Given the description of an element on the screen output the (x, y) to click on. 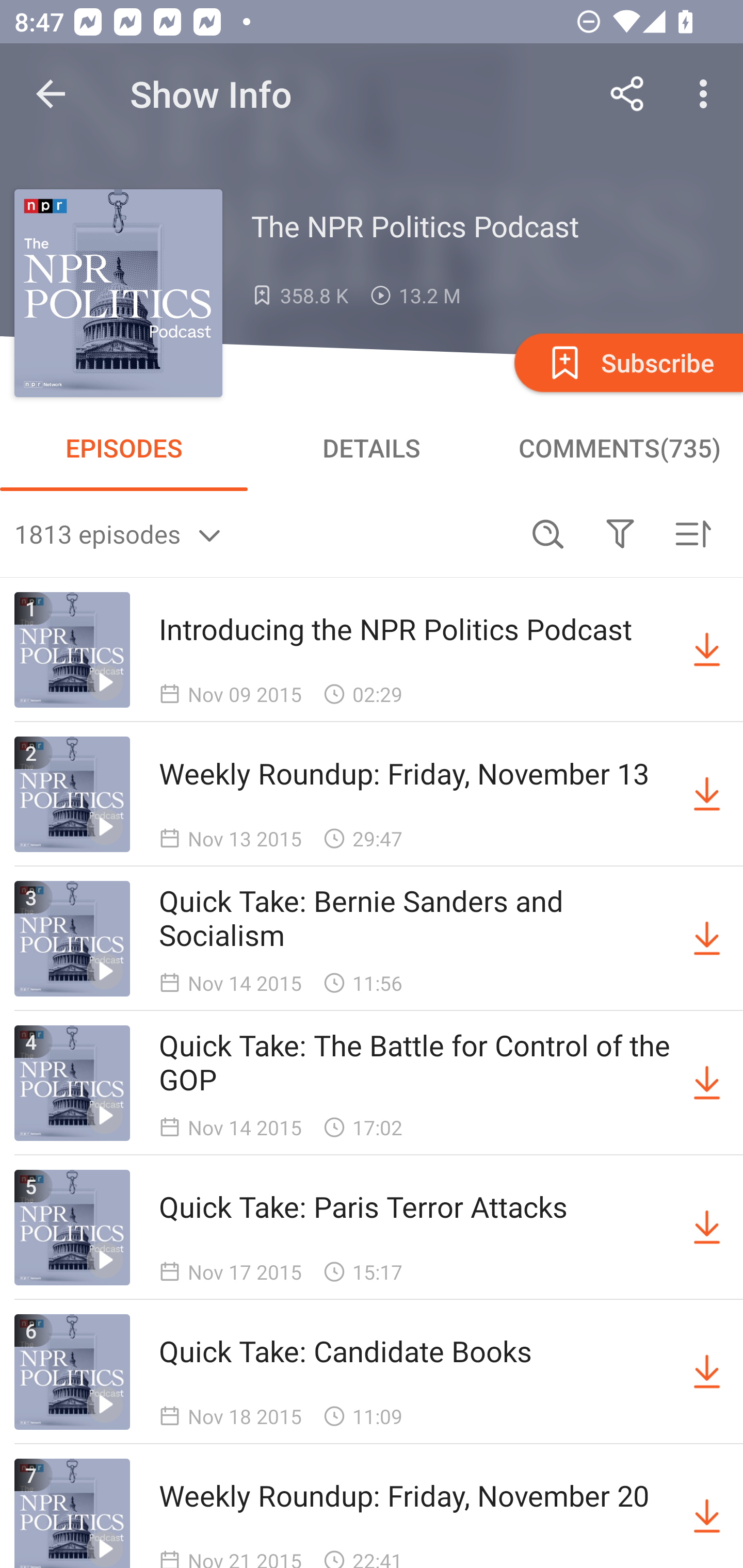
Navigate up (50, 93)
Share (626, 93)
More options (706, 93)
Subscribe (627, 361)
EPISODES (123, 447)
DETAILS (371, 447)
COMMENTS(735) (619, 447)
1813 episodes  (262, 533)
 Search (547, 533)
 (619, 533)
 Sorted by oldest first (692, 533)
Download (706, 649)
Download (706, 793)
Download (706, 939)
Download (706, 1083)
Download (706, 1227)
Download (706, 1371)
Download (706, 1513)
